Given the description of an element on the screen output the (x, y) to click on. 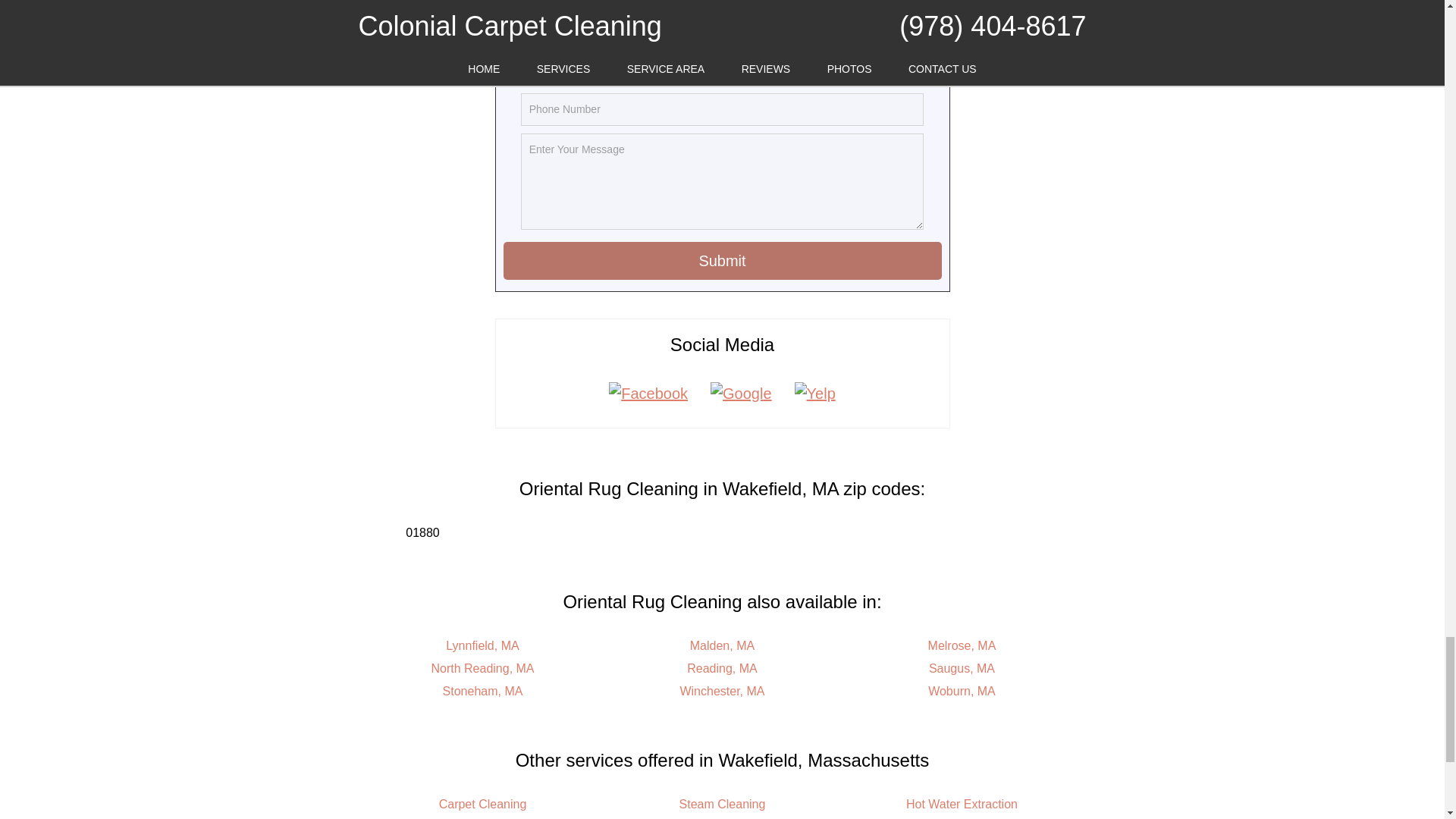
Carpet Cleaning (483, 803)
Google (740, 393)
Woburn, MA (961, 690)
North Reading, MA (482, 667)
Stoneham, MA (482, 690)
Lynnfield, MA (481, 645)
Winchester, MA (721, 690)
Submit (722, 260)
Reading, MA (722, 667)
Facebook (647, 393)
Saugus, MA (961, 667)
Melrose, MA (961, 645)
Malden, MA (722, 645)
Steam Cleaning (722, 803)
Yelp (815, 393)
